Given the description of an element on the screen output the (x, y) to click on. 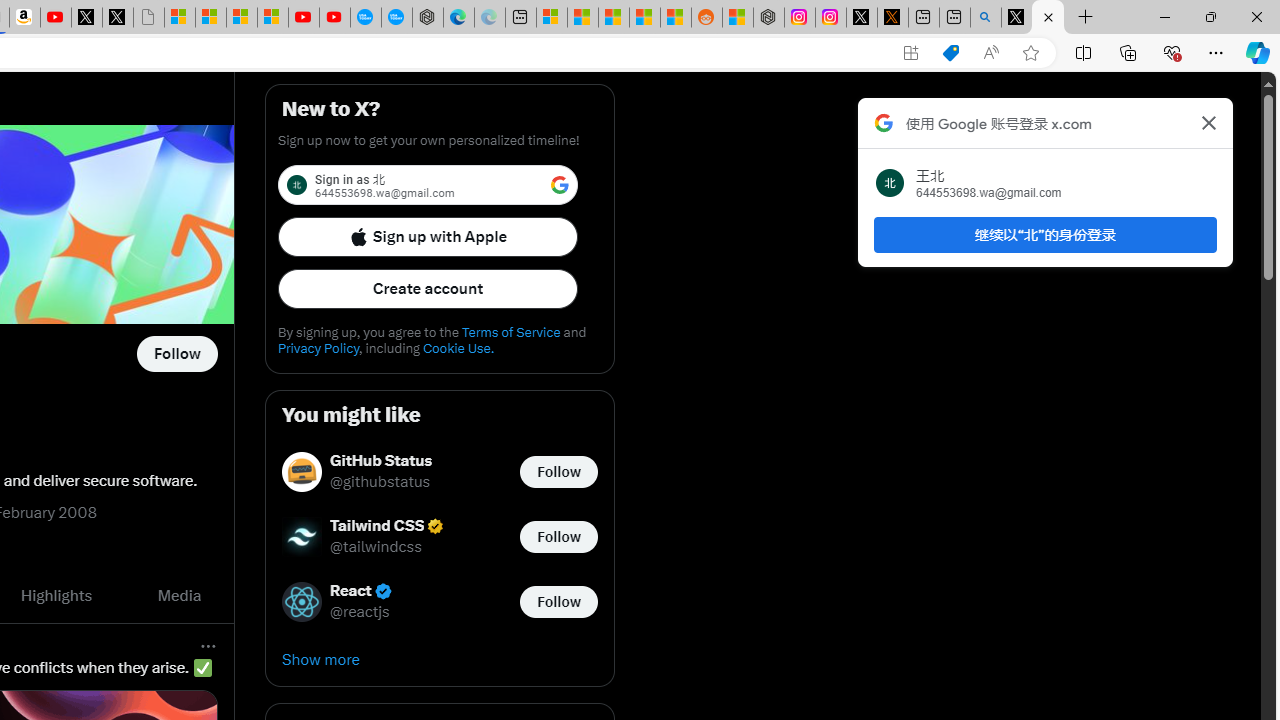
Log in to X / X (861, 17)
Day 1: Arriving in Yemen (surreal to be here) - YouTube (55, 17)
Next (212, 596)
Follow @github (176, 354)
Profile / X (1016, 17)
Tailwind CSS Verified account (387, 526)
Microsoft account | Microsoft Account Privacy Settings (551, 17)
Sign up with Apple (427, 236)
More (207, 645)
Shanghai, China Weather trends | Microsoft Weather (675, 17)
